Given the description of an element on the screen output the (x, y) to click on. 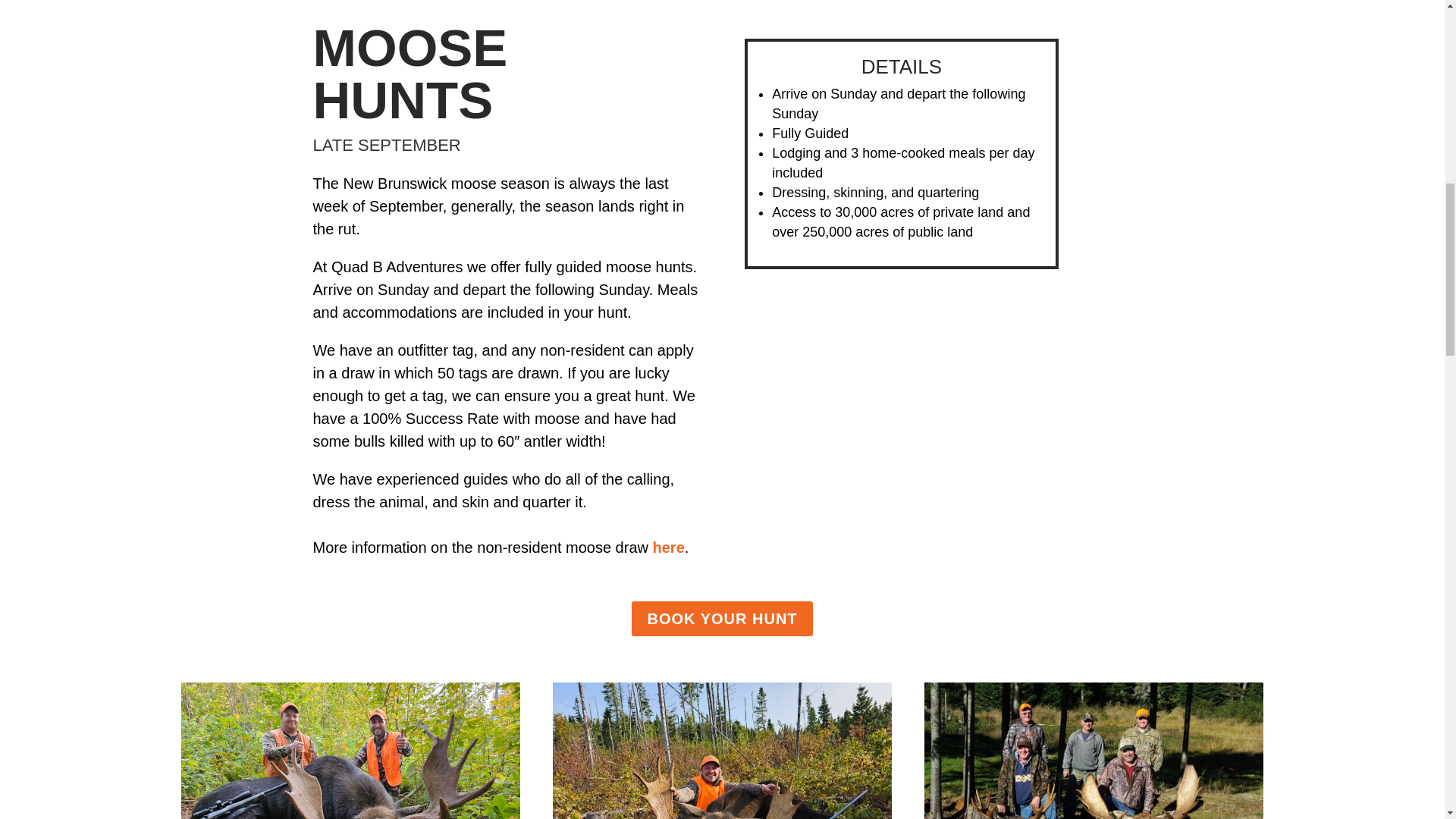
Guided moose hunt new brunswick (349, 750)
here (668, 547)
NB MOOSE HUNT (722, 750)
BOOK YOUR HUNT (721, 618)
